Given the description of an element on the screen output the (x, y) to click on. 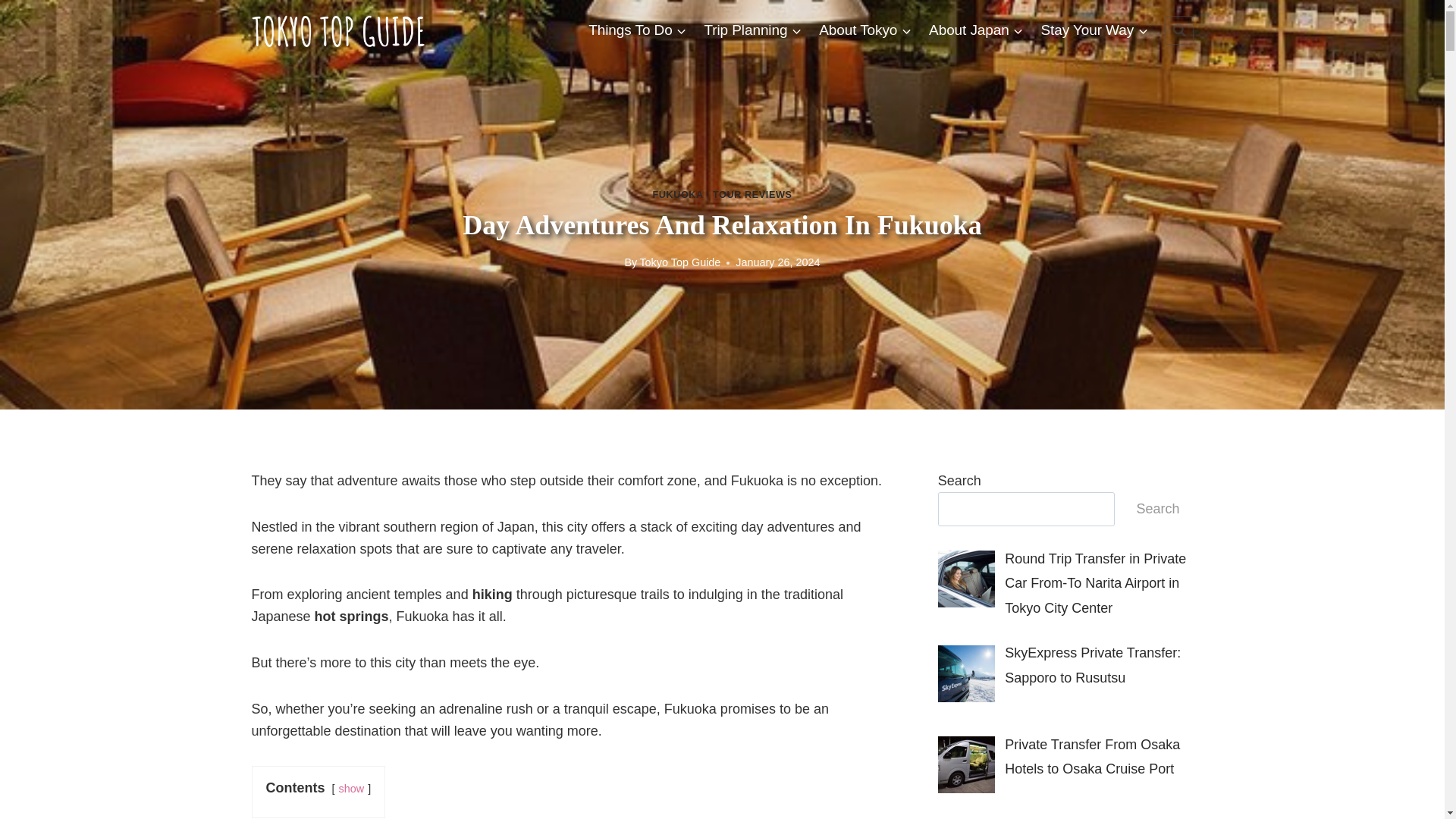
Tokyo Top Guide (679, 262)
FUKUOKA (677, 194)
Trip Planning (752, 29)
About Tokyo (865, 29)
Stay Your Way (1094, 29)
TOUR REVIEWS (752, 194)
About Japan (976, 29)
Things To Do (637, 29)
show (352, 788)
